Given the description of an element on the screen output the (x, y) to click on. 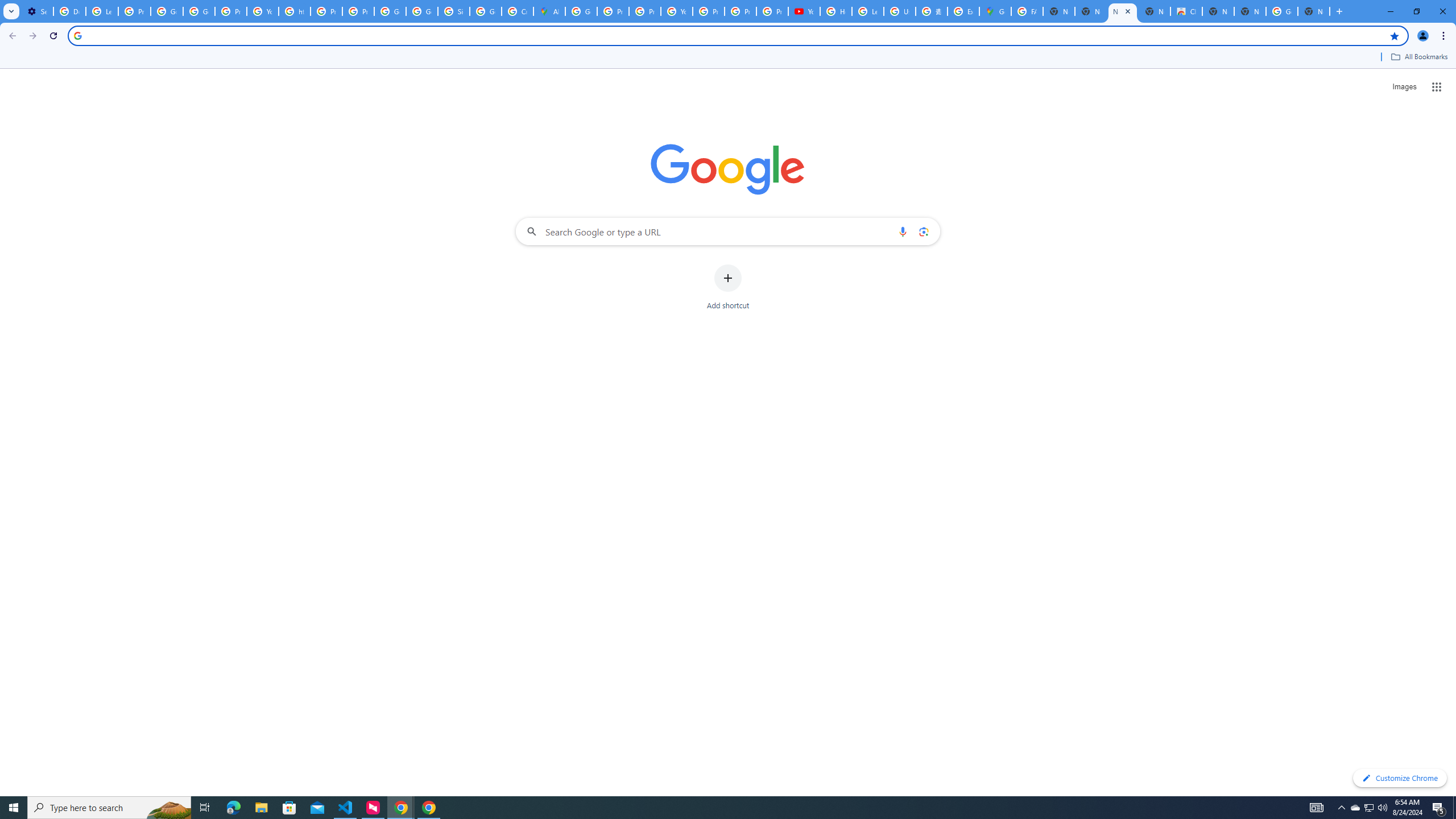
Google Images (1281, 11)
